Given the description of an element on the screen output the (x, y) to click on. 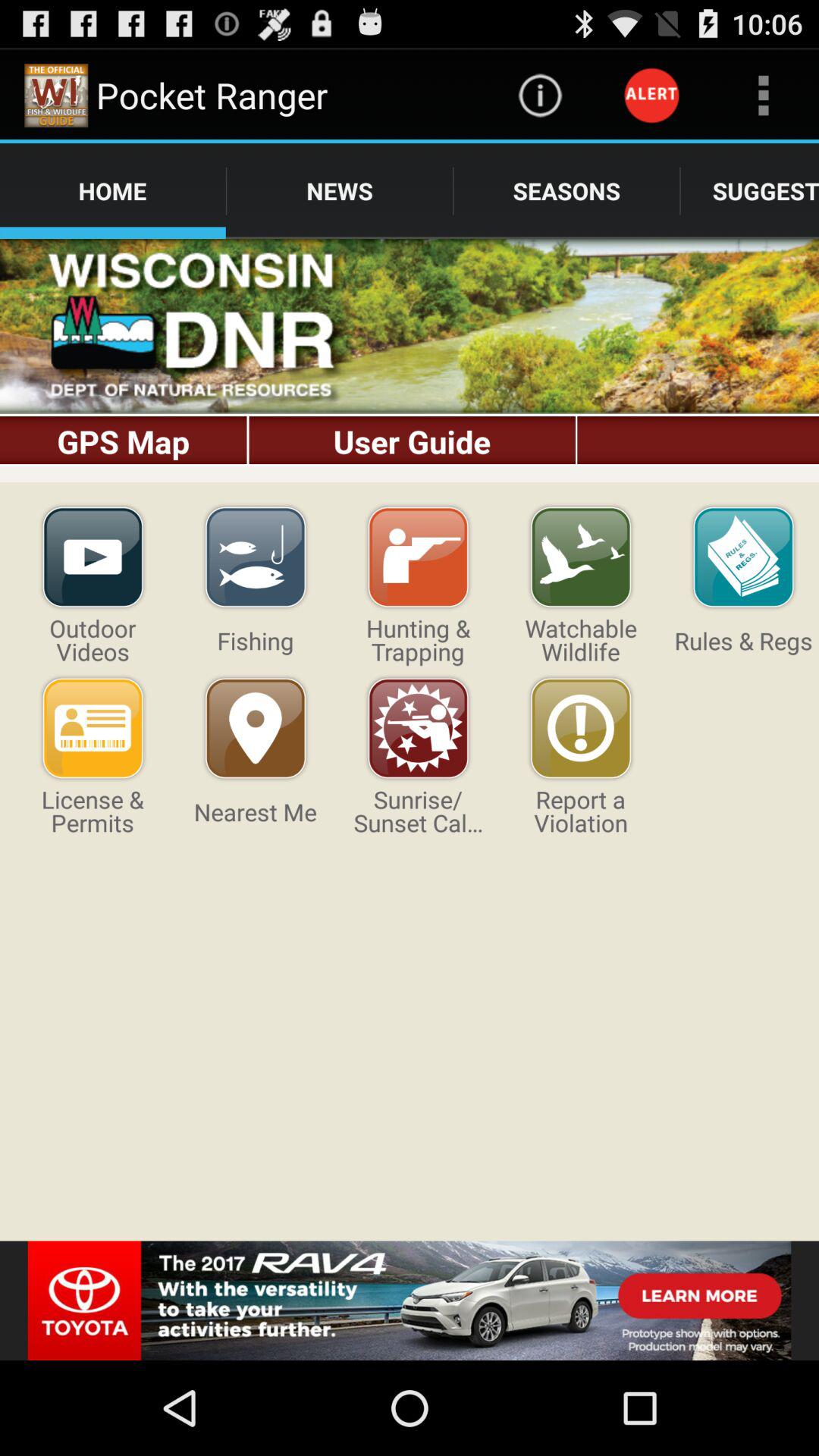
go to advertising partner (409, 1300)
